Given the description of an element on the screen output the (x, y) to click on. 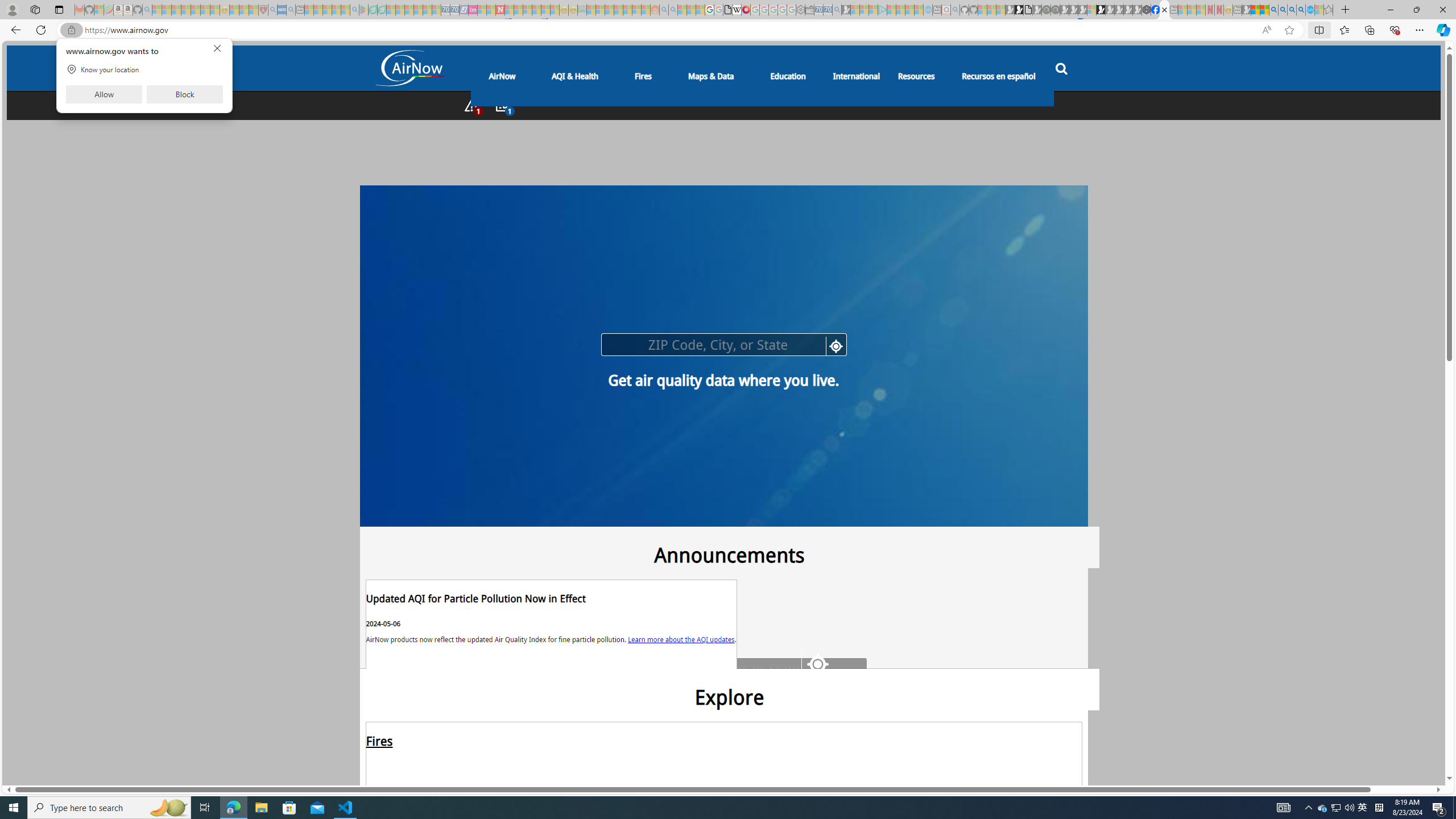
Learn more about the AQI updates (681, 638)
